Given the description of an element on the screen output the (x, y) to click on. 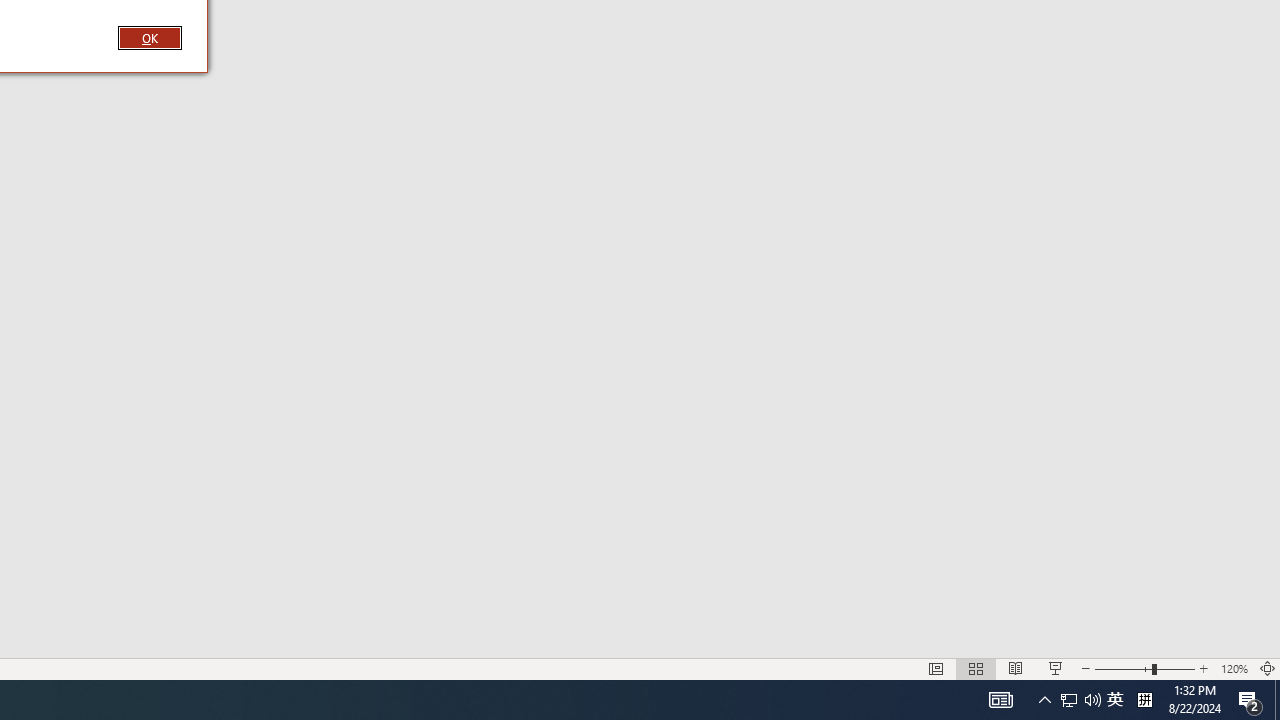
Action Center, 2 new notifications (1250, 699)
Zoom 120% (1234, 668)
Notification Chevron (1044, 699)
